Given the description of an element on the screen output the (x, y) to click on. 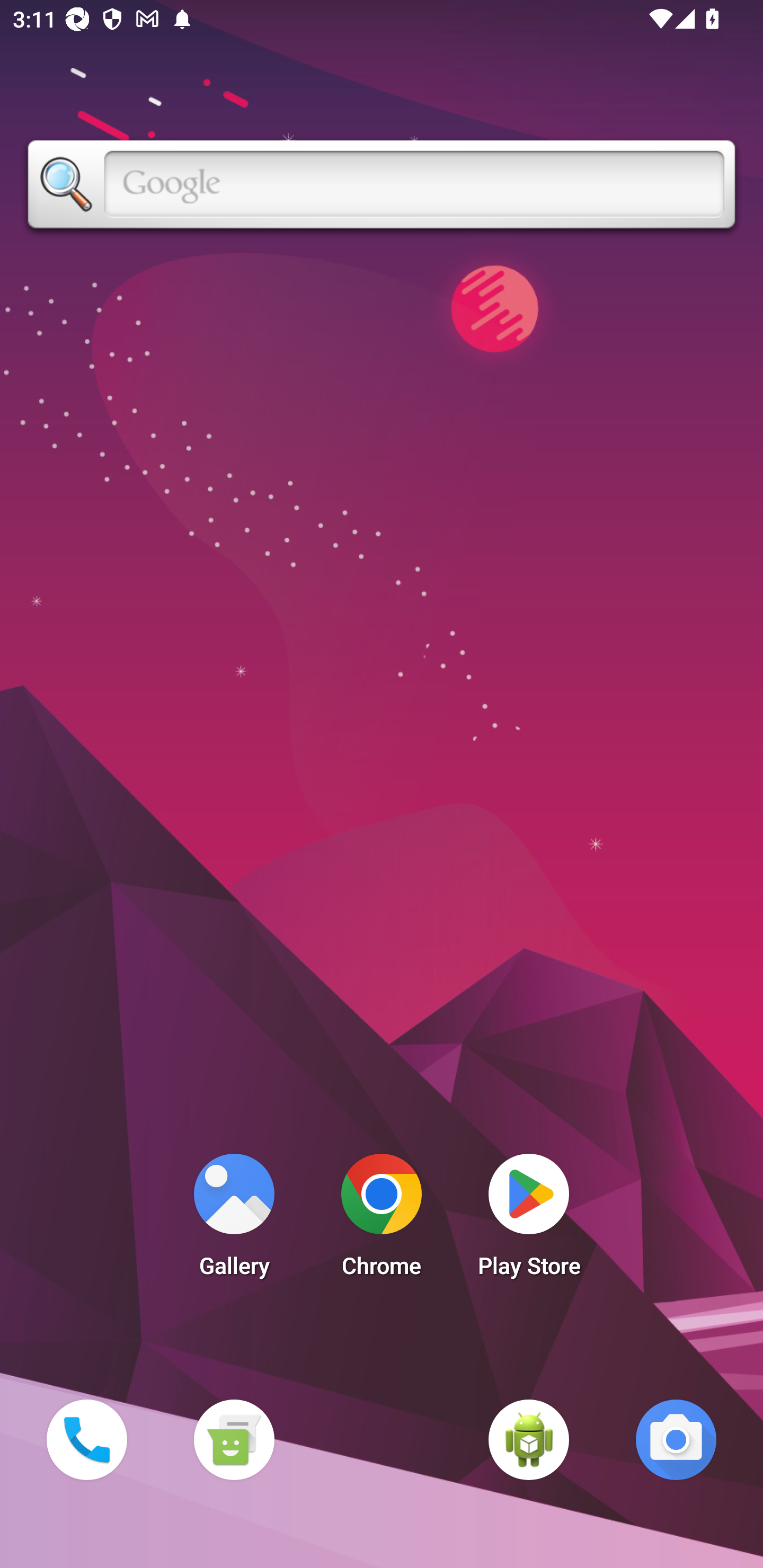
Gallery (233, 1220)
Chrome (381, 1220)
Play Store (528, 1220)
Phone (86, 1439)
Messaging (233, 1439)
WebView Browser Tester (528, 1439)
Camera (676, 1439)
